Given the description of an element on the screen output the (x, y) to click on. 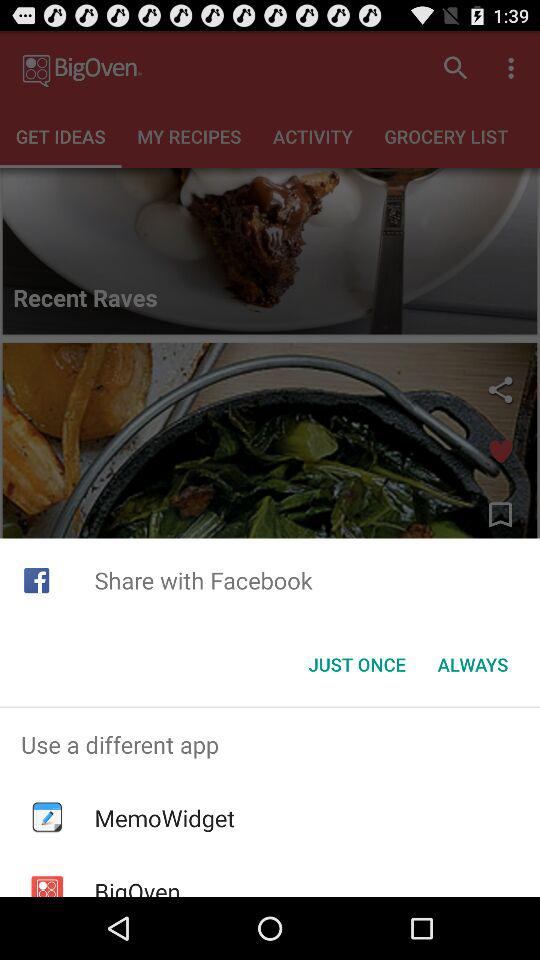
swipe until memowidget app (164, 817)
